Given the description of an element on the screen output the (x, y) to click on. 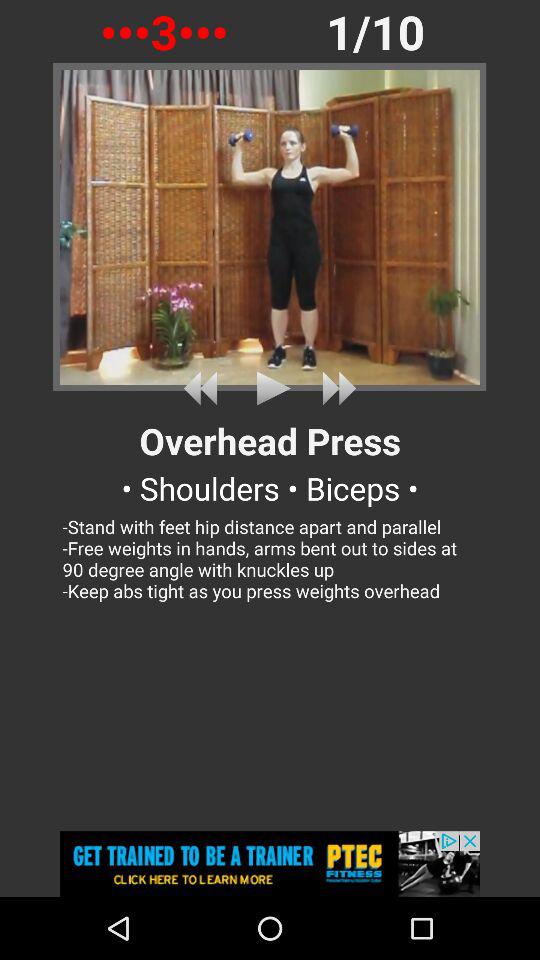
play the option (269, 388)
